Given the description of an element on the screen output the (x, y) to click on. 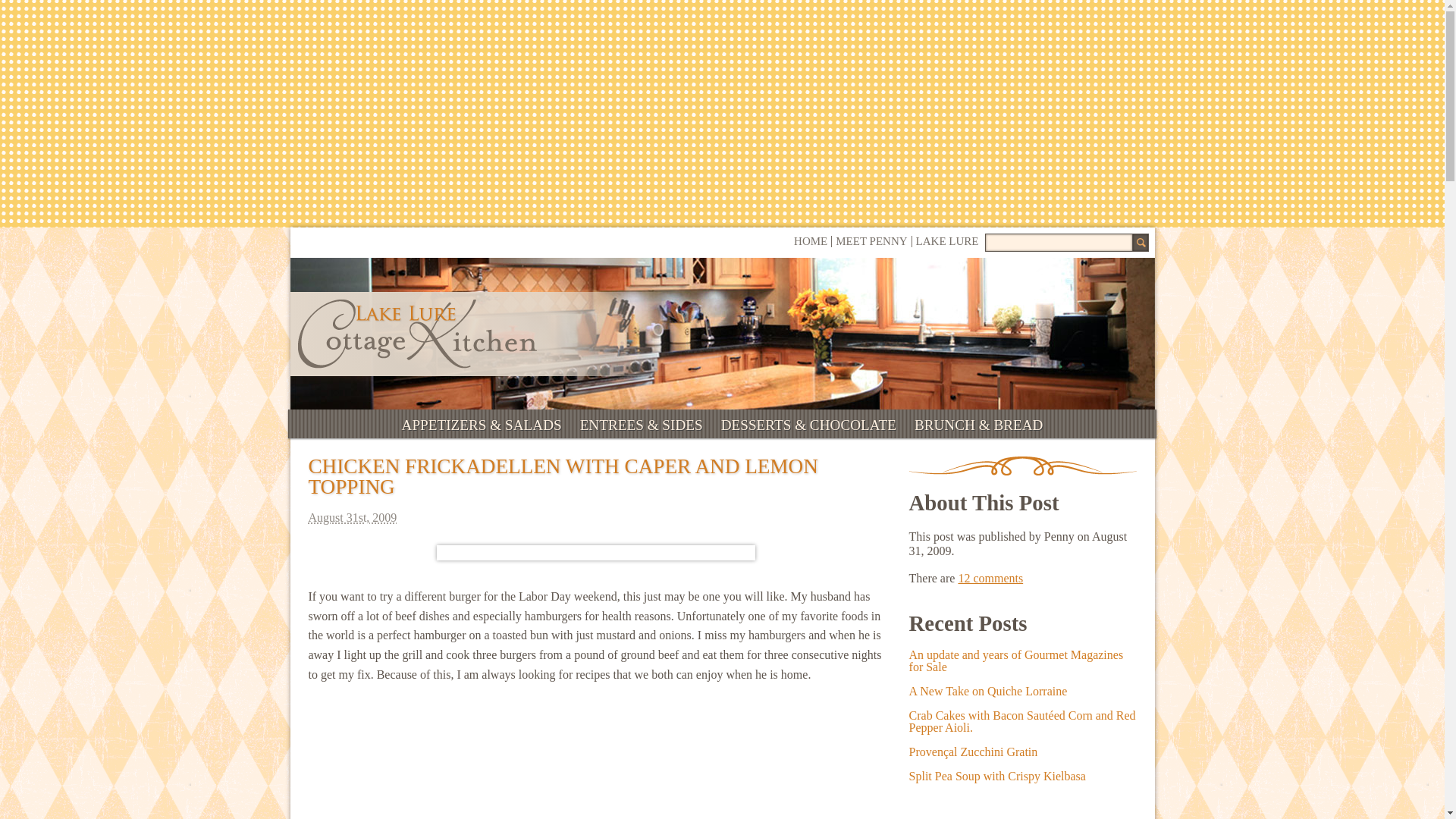
MEET PENNY (871, 241)
Lake Lure Cottage Kitchen (416, 333)
Search (1139, 242)
HOME (810, 241)
2009-08-31T20:10:00-04:00 (595, 517)
LAKE LURE (946, 241)
